Given the description of an element on the screen output the (x, y) to click on. 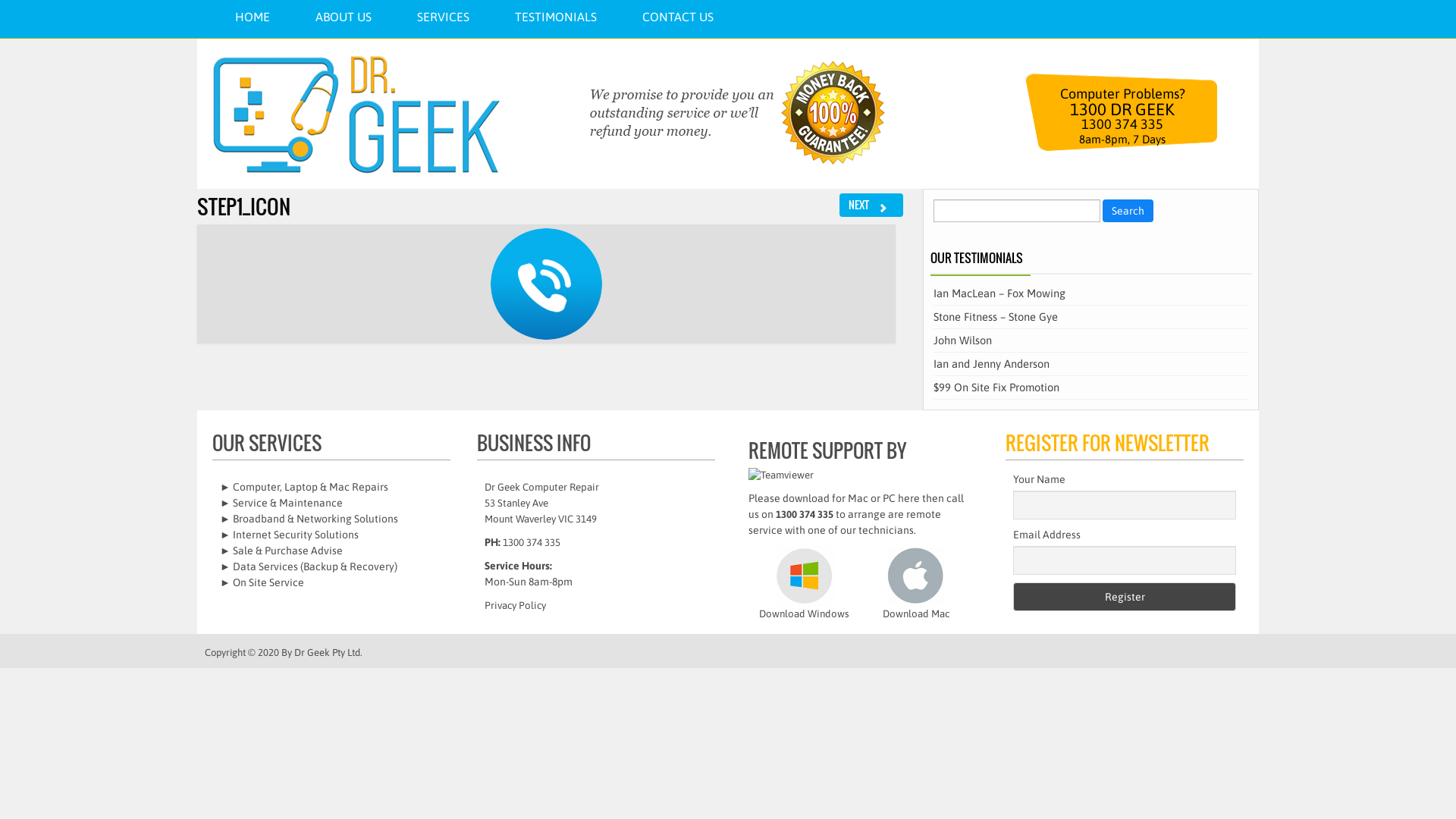
CONTACT US Element type: text (677, 16)
NEXT Element type: text (871, 204)
Dr Geek - Computer Repairs Element type: hover (356, 113)
John Wilson Element type: text (962, 339)
$99 On Site Fix Promotion Element type: text (996, 386)
Download Windows Element type: text (804, 594)
1300 374 335 Element type: text (804, 514)
Dr Geek Element type: hover (382, 113)
Register Element type: text (1124, 596)
TESTIMONIALS Element type: text (555, 16)
HOME Element type: text (252, 16)
1300 374 335 Element type: text (531, 542)
Privacy Policy Element type: text (515, 605)
Money Back Guarantee Element type: hover (721, 113)
Ian and Jenny Anderson Element type: text (991, 363)
Search Element type: text (1127, 210)
Download Mac Element type: text (915, 594)
Dr Geek Element type: text (311, 652)
SERVICES Element type: text (443, 16)
ABOUT US Element type: text (343, 16)
